Given the description of an element on the screen output the (x, y) to click on. 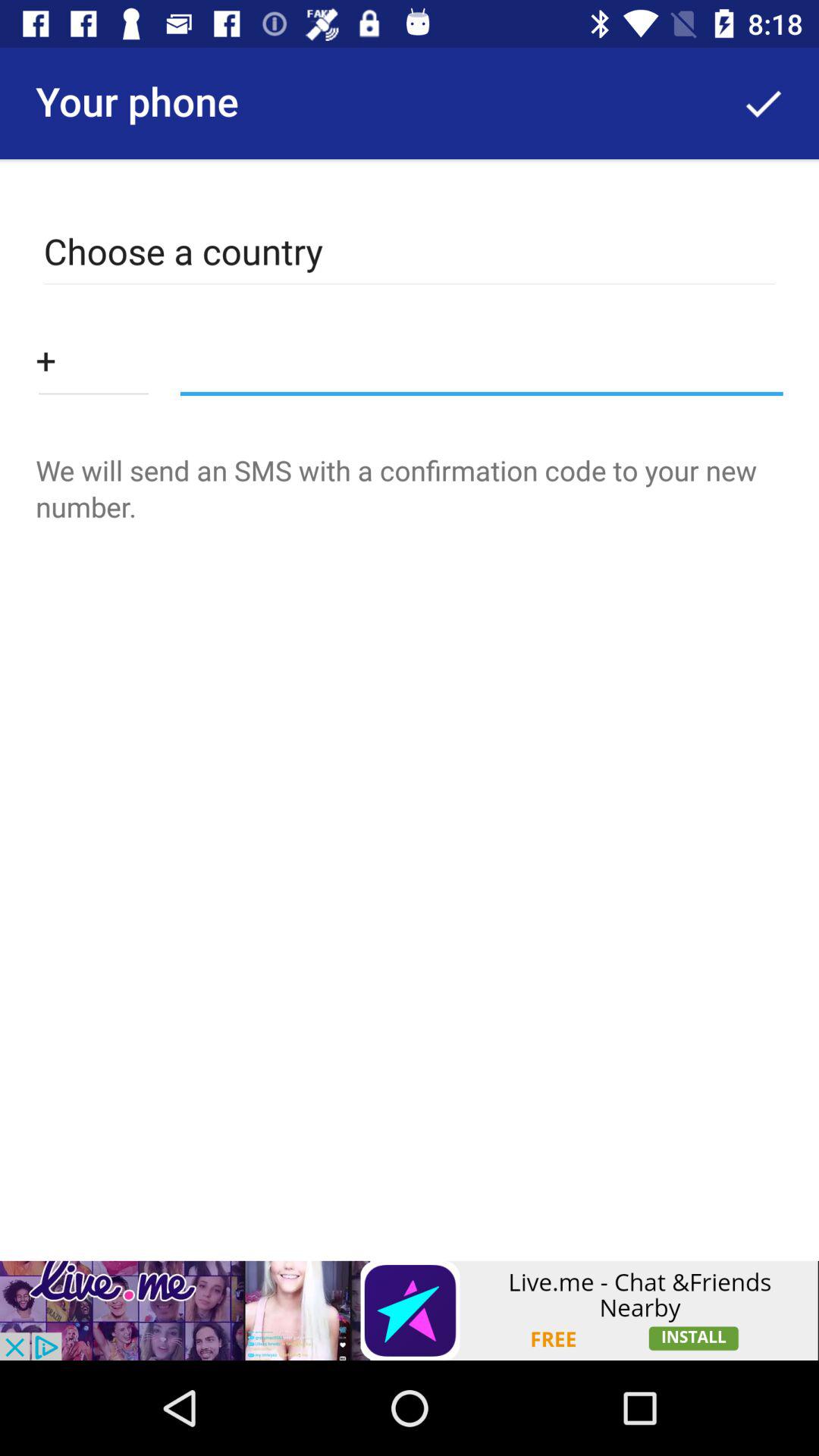
options plus (93, 359)
